Given the description of an element on the screen output the (x, y) to click on. 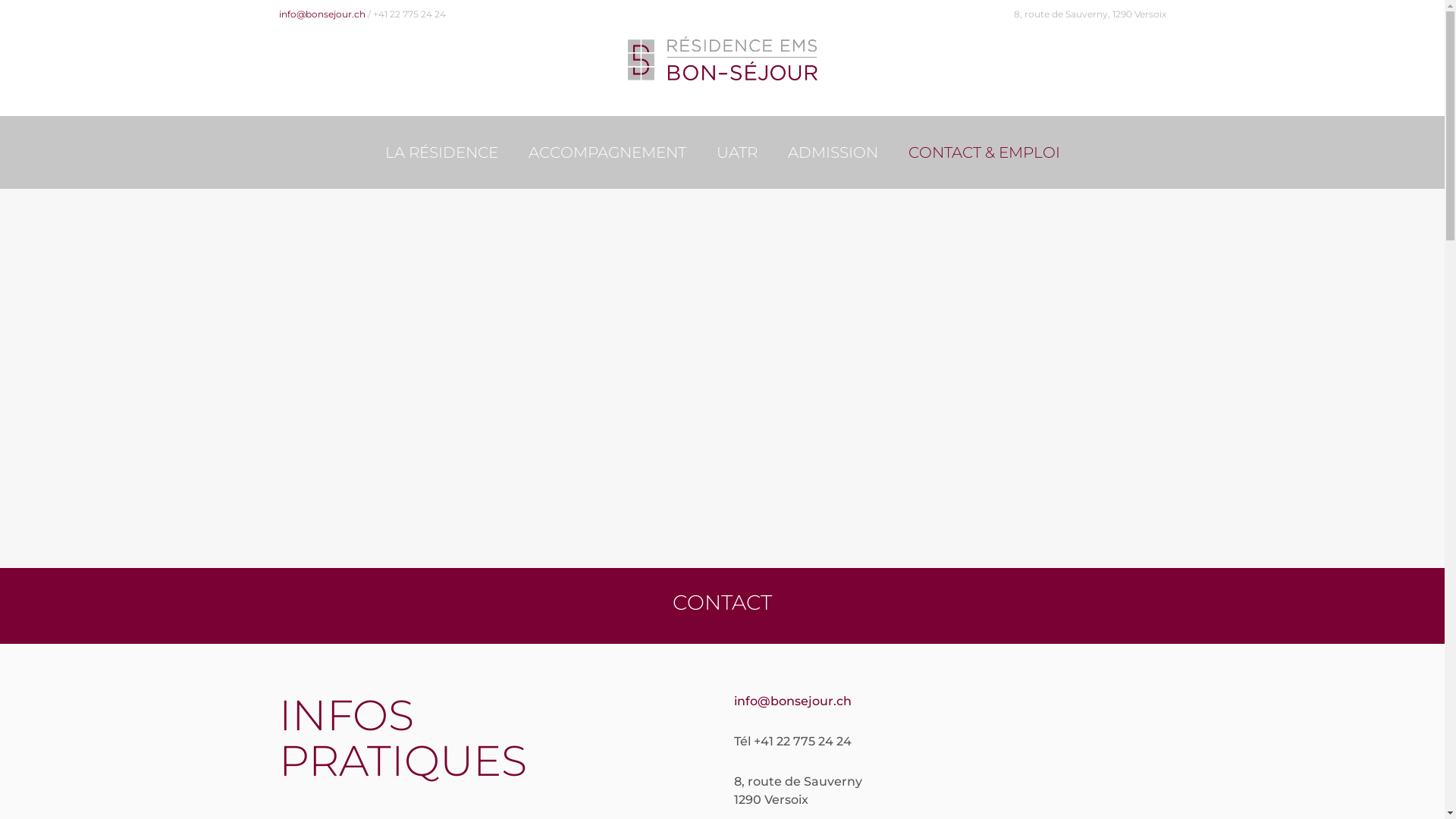
info@bonsejour.ch Element type: text (322, 13)
ACCOMPAGNEMENT Element type: text (606, 152)
UATR Element type: text (735, 152)
info@bonsejour.ch Element type: text (792, 700)
CONTACT & EMPLOI Element type: text (984, 152)
ADMISSION Element type: text (832, 152)
